Given the description of an element on the screen output the (x, y) to click on. 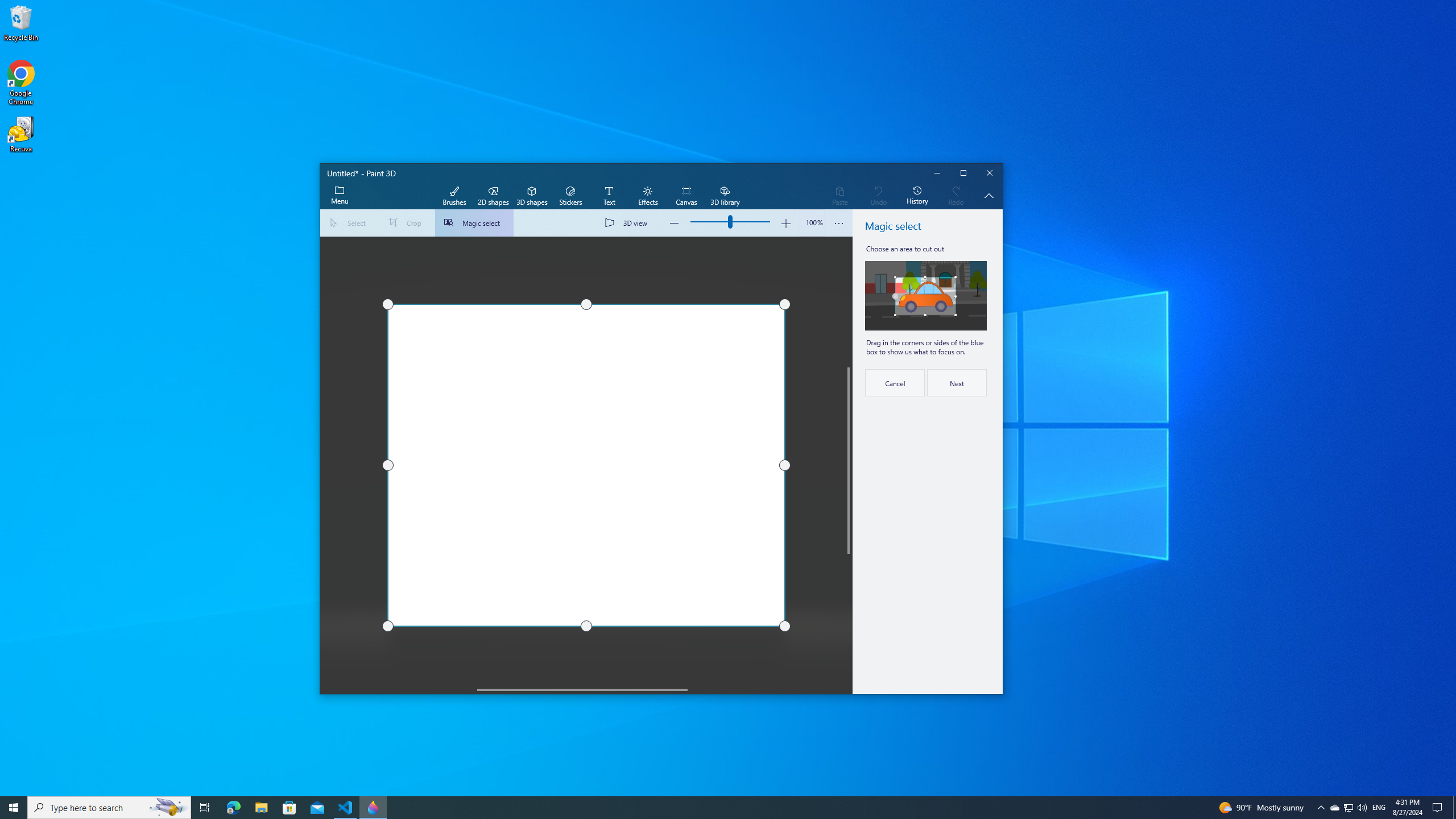
Select (350, 222)
Magic select (474, 222)
Next (957, 382)
History (917, 195)
Tray Input Indicator - English (United States) (1378, 807)
2D shapes (492, 195)
Stickers (570, 195)
